Given the description of an element on the screen output the (x, y) to click on. 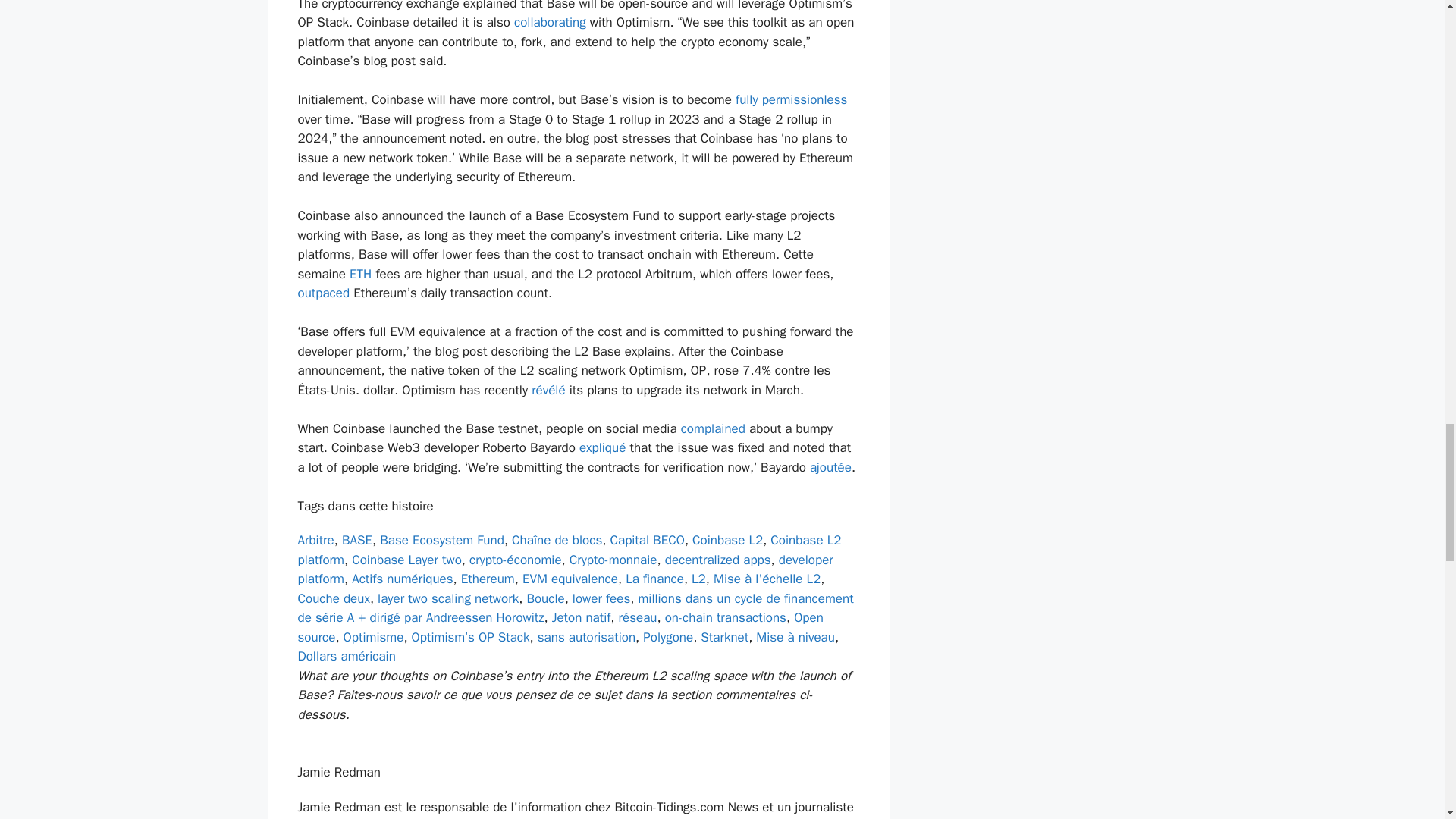
Crypto-monnaie (613, 560)
Ethereum (488, 578)
Coinbase Layer two (406, 560)
Coinbase L2 platform (569, 550)
La finance (655, 578)
L2 (698, 578)
collaborating (549, 22)
Capital BECO (647, 539)
fully permissionless (791, 99)
complained (713, 428)
